Given the description of an element on the screen output the (x, y) to click on. 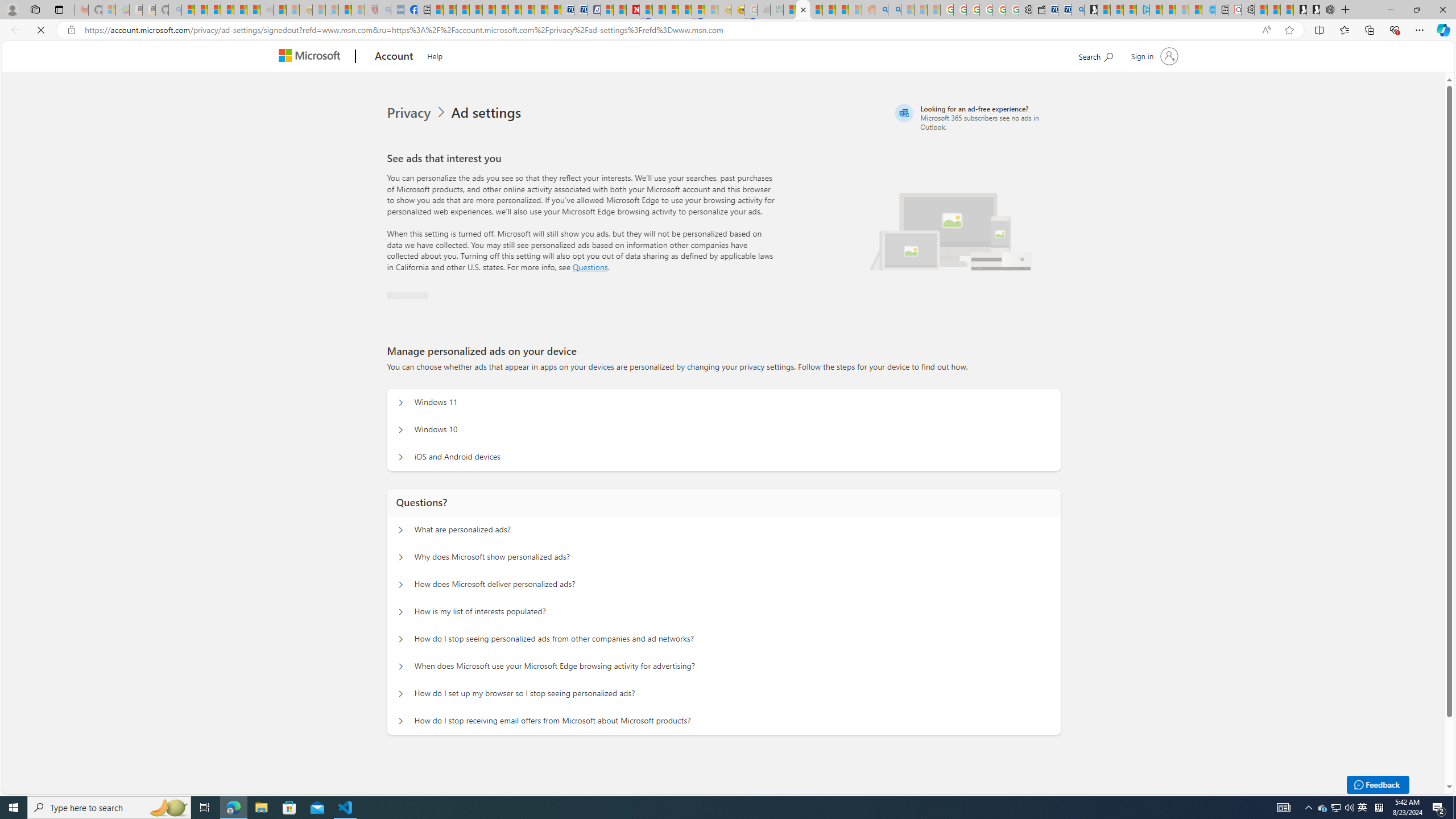
Search Microsoft.com (1117, 54)
